Given the description of an element on the screen output the (x, y) to click on. 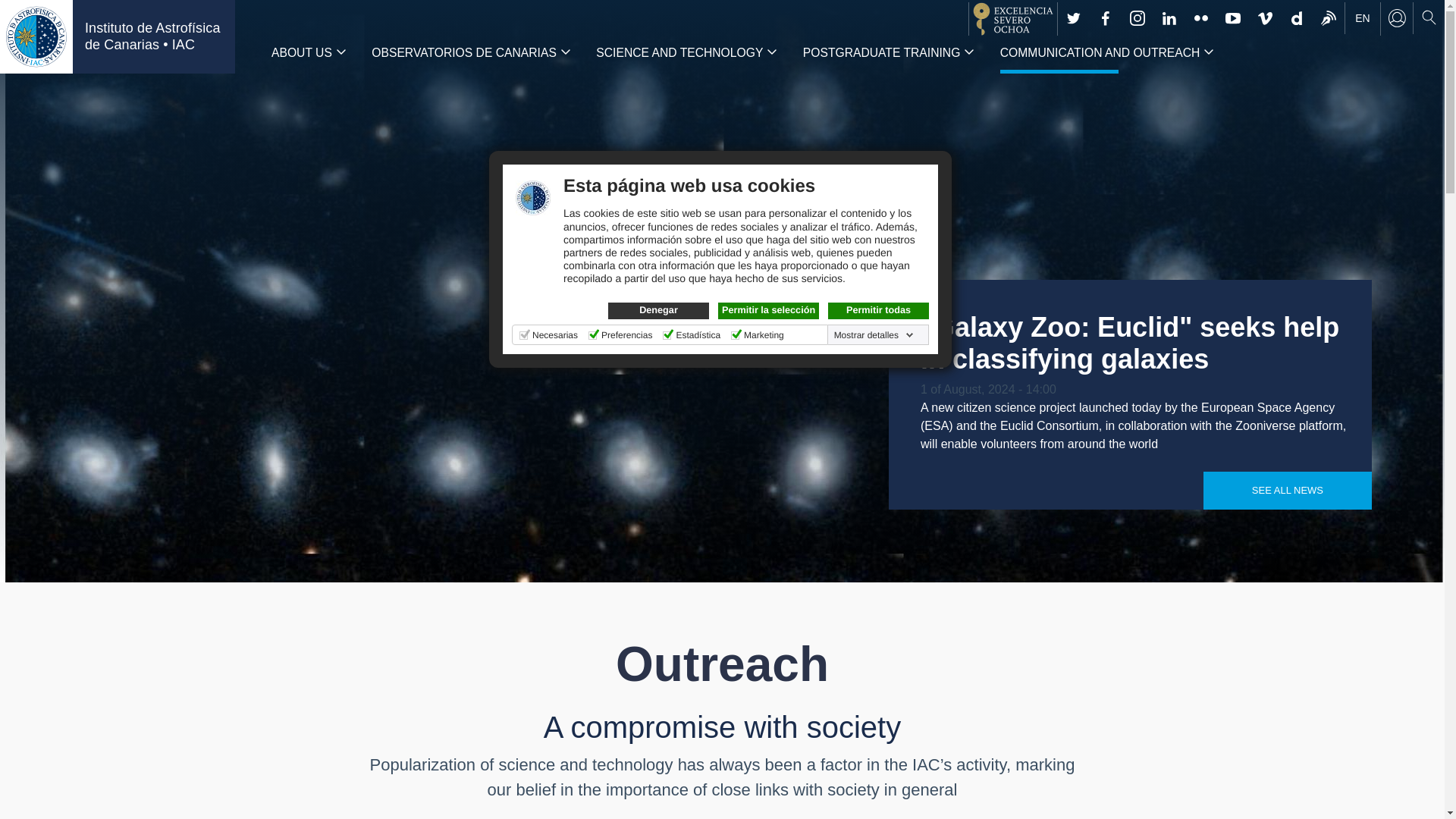
Denegar (658, 310)
Permitir todas (878, 310)
Mostrar detalles (874, 335)
